Given the description of an element on the screen output the (x, y) to click on. 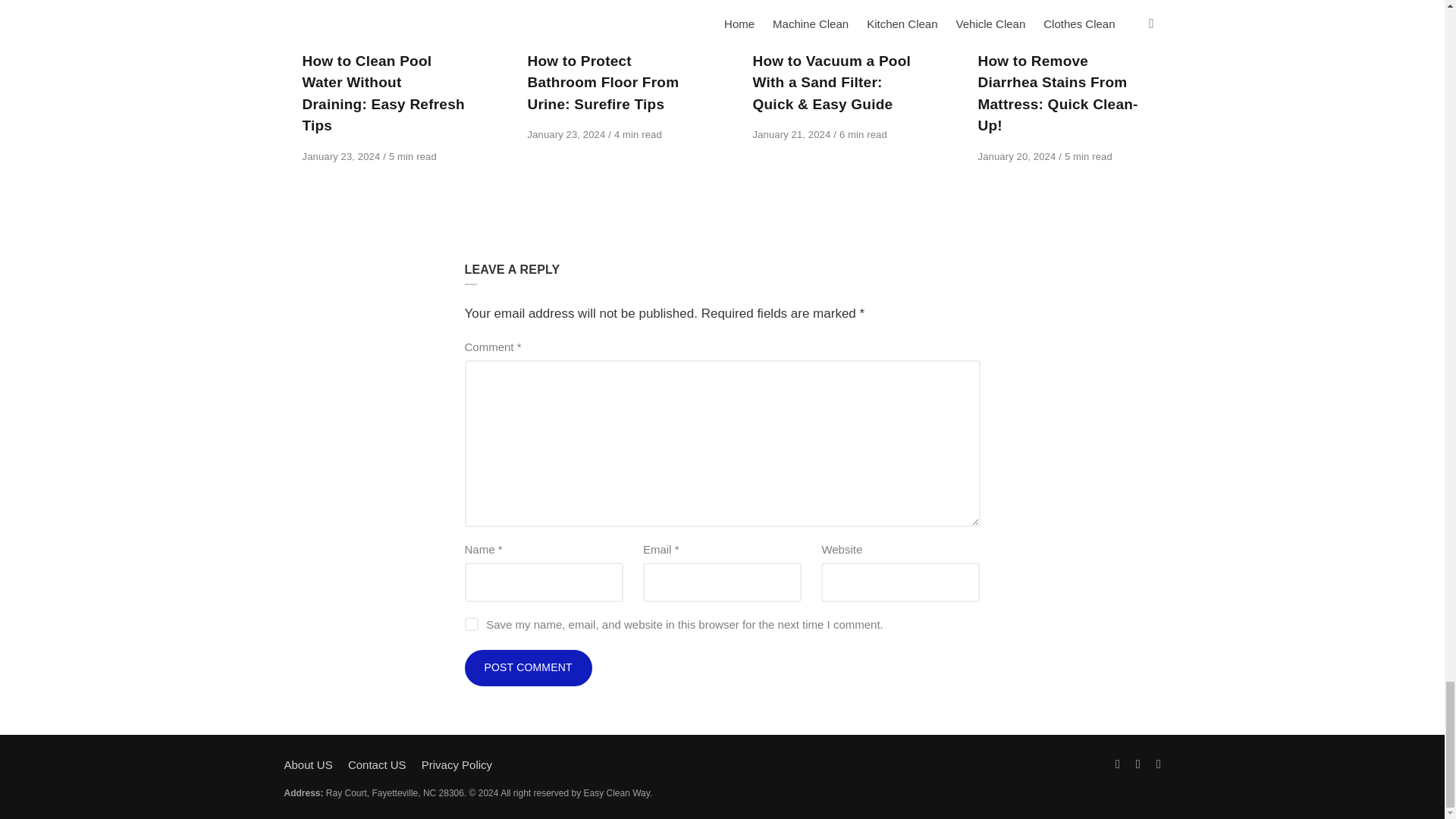
January 23, 2024 (341, 156)
Post Comment (527, 668)
yes (470, 623)
January 23, 2024 (567, 134)
January 23, 2024 (341, 156)
January 20, 2024 (1018, 156)
January 21, 2024 (792, 134)
Home Clean (335, 38)
